Given the description of an element on the screen output the (x, y) to click on. 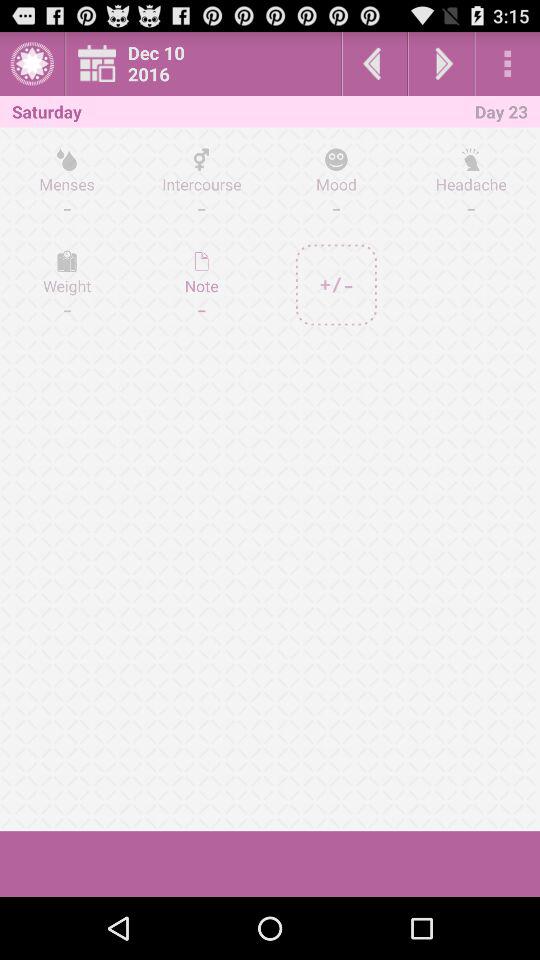
next day (441, 63)
